Given the description of an element on the screen output the (x, y) to click on. 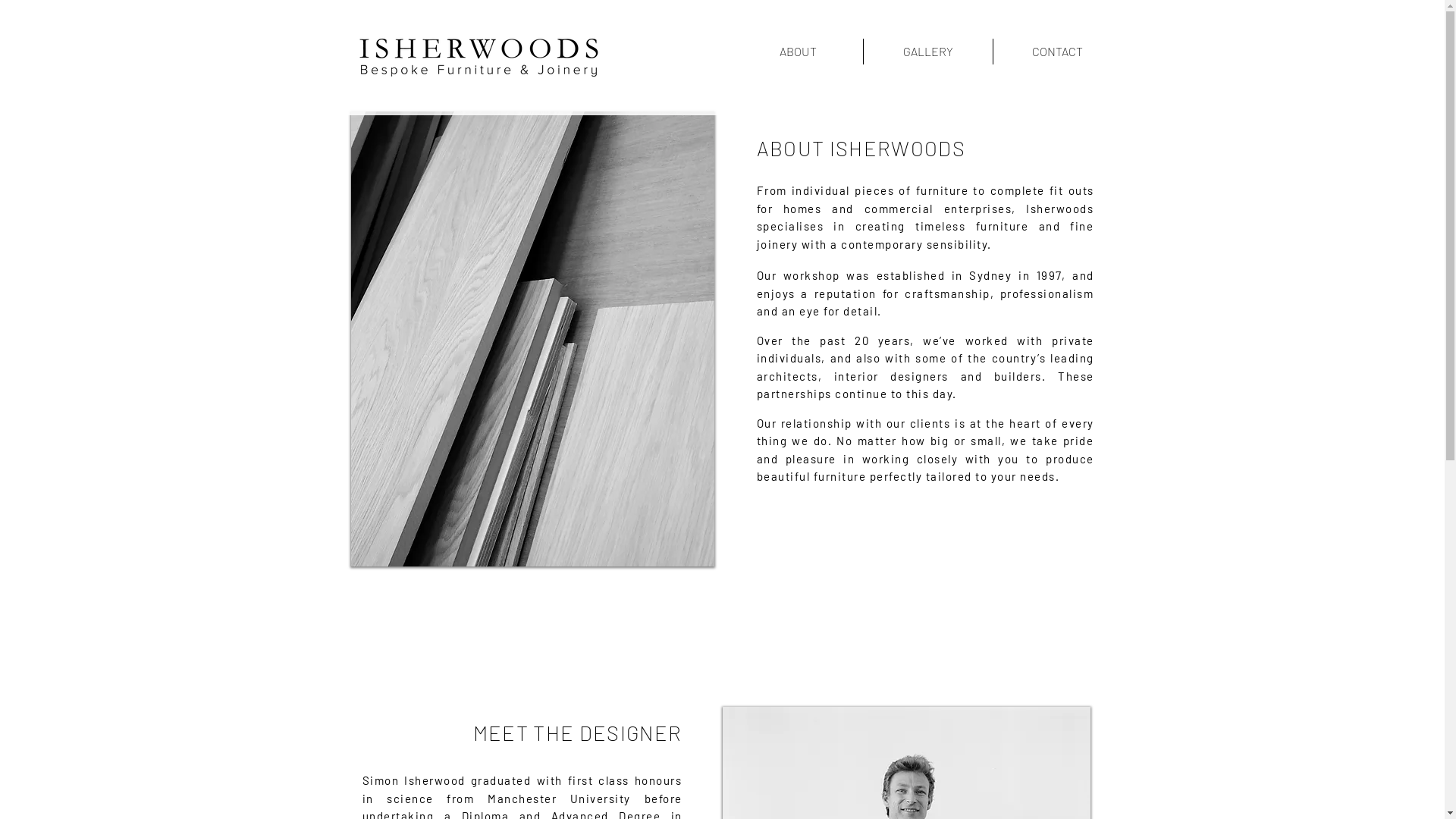
CONTACT Element type: text (1057, 51)
ABOUT Element type: text (797, 51)
GALLERY Element type: text (926, 51)
